Given the description of an element on the screen output the (x, y) to click on. 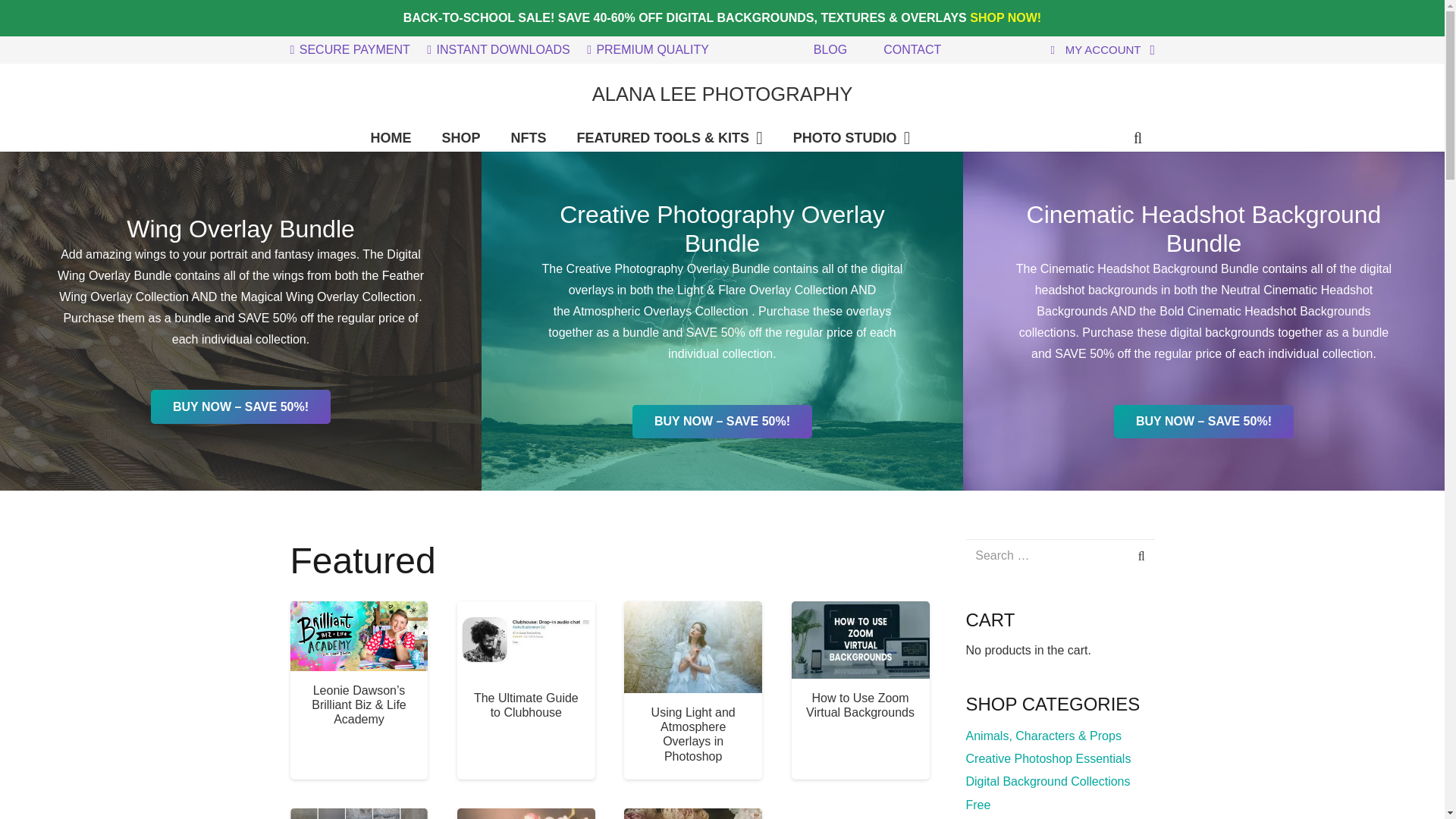
NFTS (529, 137)
HOME (390, 137)
Neutral Cinematic Headshot Backgrounds (1204, 300)
CONTACT (911, 49)
Magical Wing Overlay Collection (327, 296)
ALANA LEE PHOTOGRAPHY (722, 93)
The Ultimate Guide to Clubhouse (526, 705)
Bold Cinematic Headshot Backgrounds (1264, 310)
MY ACCOUNT (1099, 49)
SHOP NOW! (1005, 17)
